Given the description of an element on the screen output the (x, y) to click on. 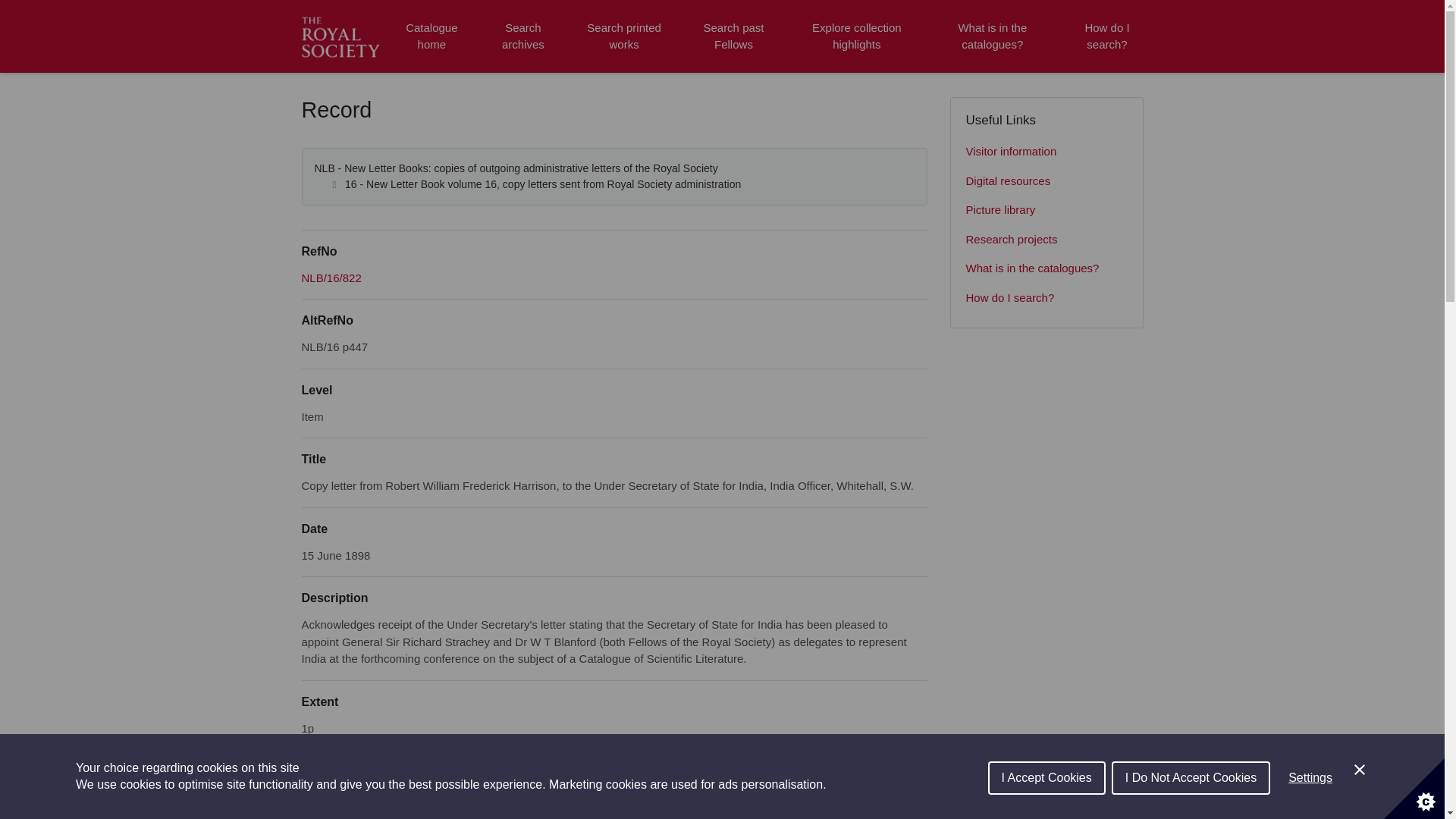
Visitor information (1046, 152)
What is in the catalogues? (991, 36)
How do I search? (1106, 36)
Browse record in hierarchy. (331, 277)
Research projects (1046, 239)
Catalogue home (431, 36)
Search printed works (624, 36)
Settings (1309, 808)
What is in the catalogues? (1046, 268)
Digital resources (1046, 181)
Search archives (522, 36)
Explore collection highlights (856, 36)
Search past Fellows (732, 36)
